Given the description of an element on the screen output the (x, y) to click on. 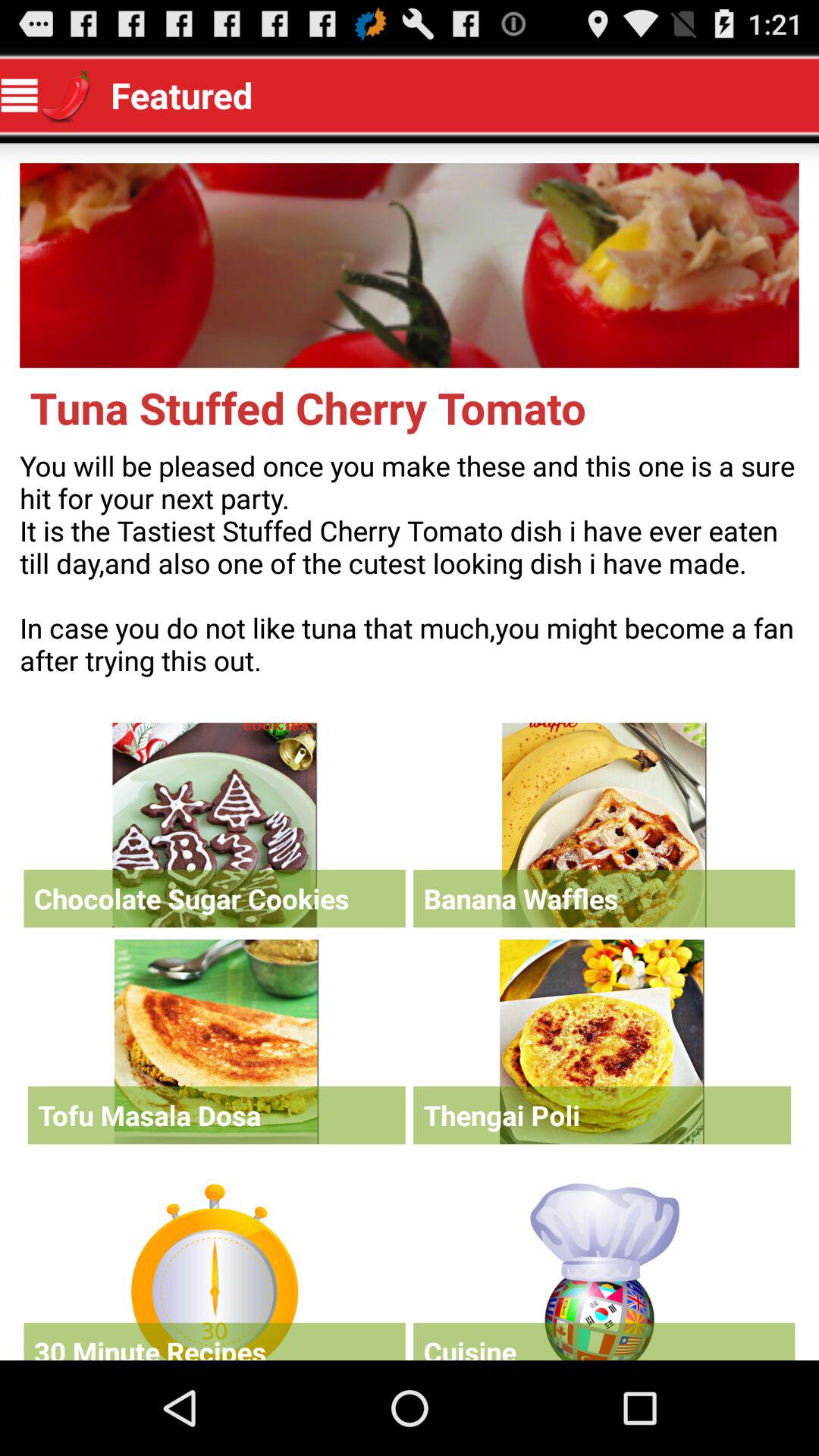
see recipe (216, 1041)
